Given the description of an element on the screen output the (x, y) to click on. 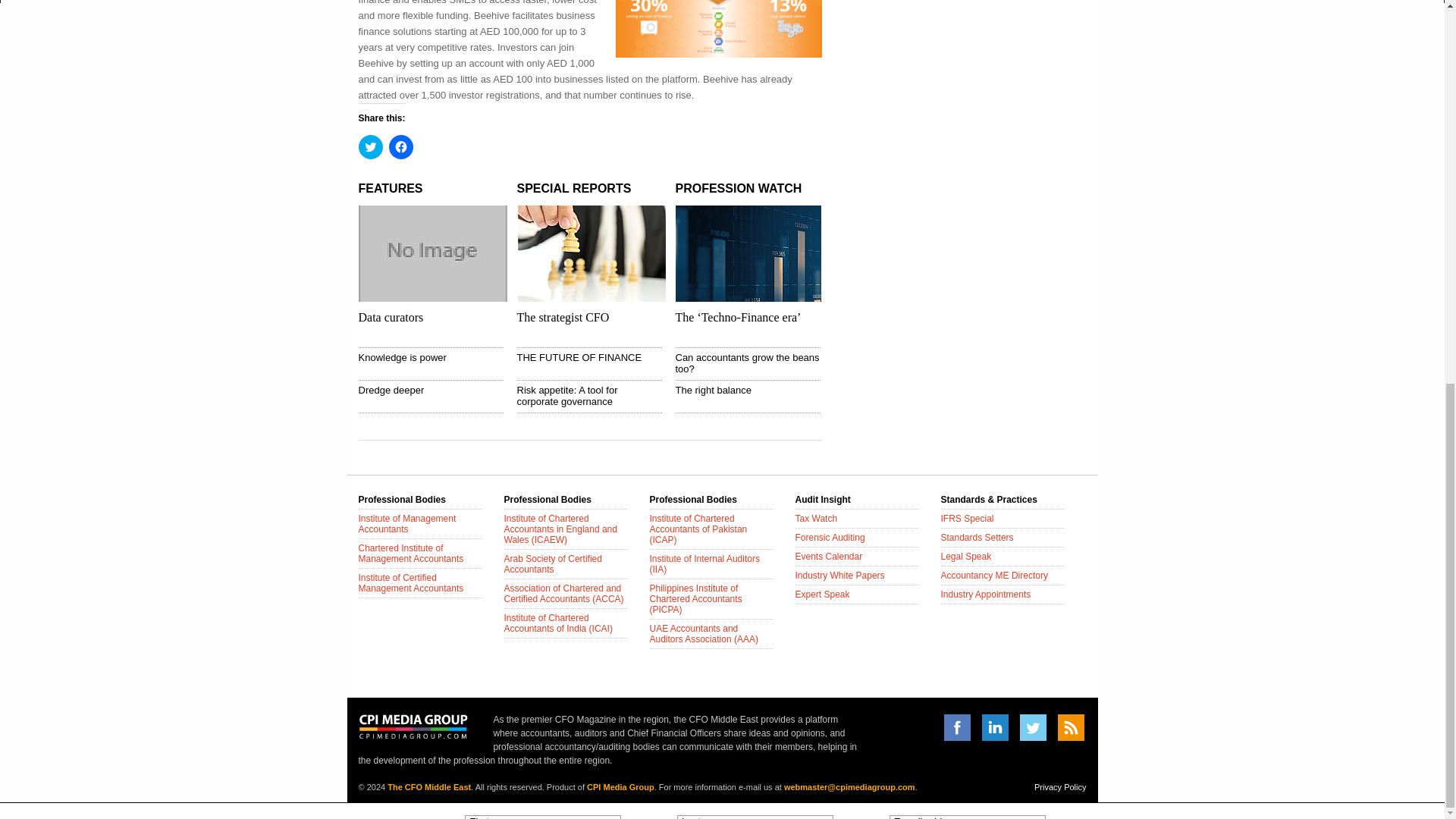
PROFESSION WATCH (738, 187)
FEATURES (390, 187)
The right balance (713, 389)
Subscribe (1076, 123)
Click to share on Facebook (400, 146)
Data curators (390, 317)
The strategist CFO (563, 317)
Knowledge is power (401, 357)
Risk appetite: A tool for corporate governance (566, 395)
1 (469, 139)
